Given the description of an element on the screen output the (x, y) to click on. 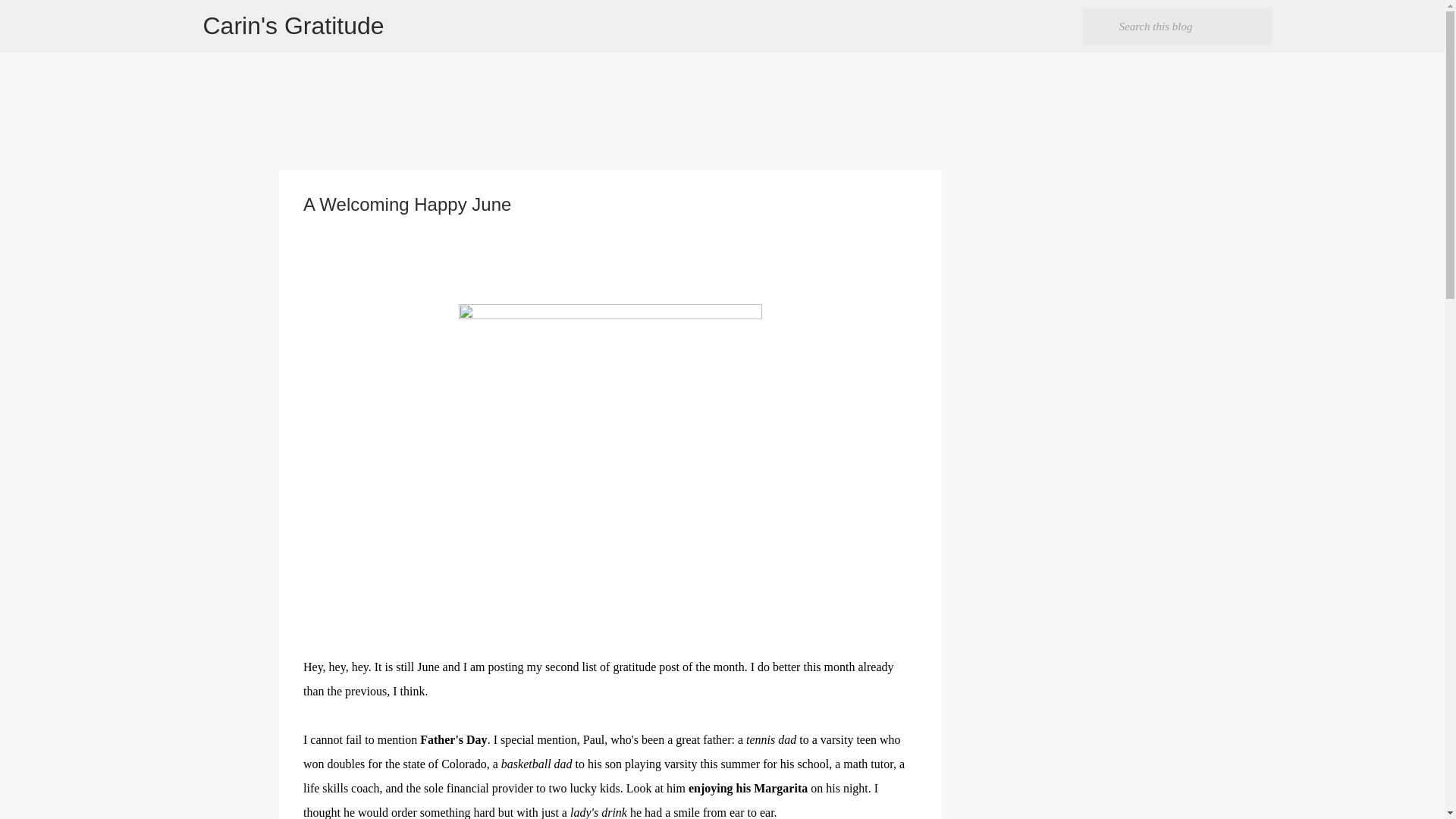
Email Post (311, 230)
Carin's Gratitude (293, 25)
Shop Amazon Products I Tried (384, 422)
